Given the description of an element on the screen output the (x, y) to click on. 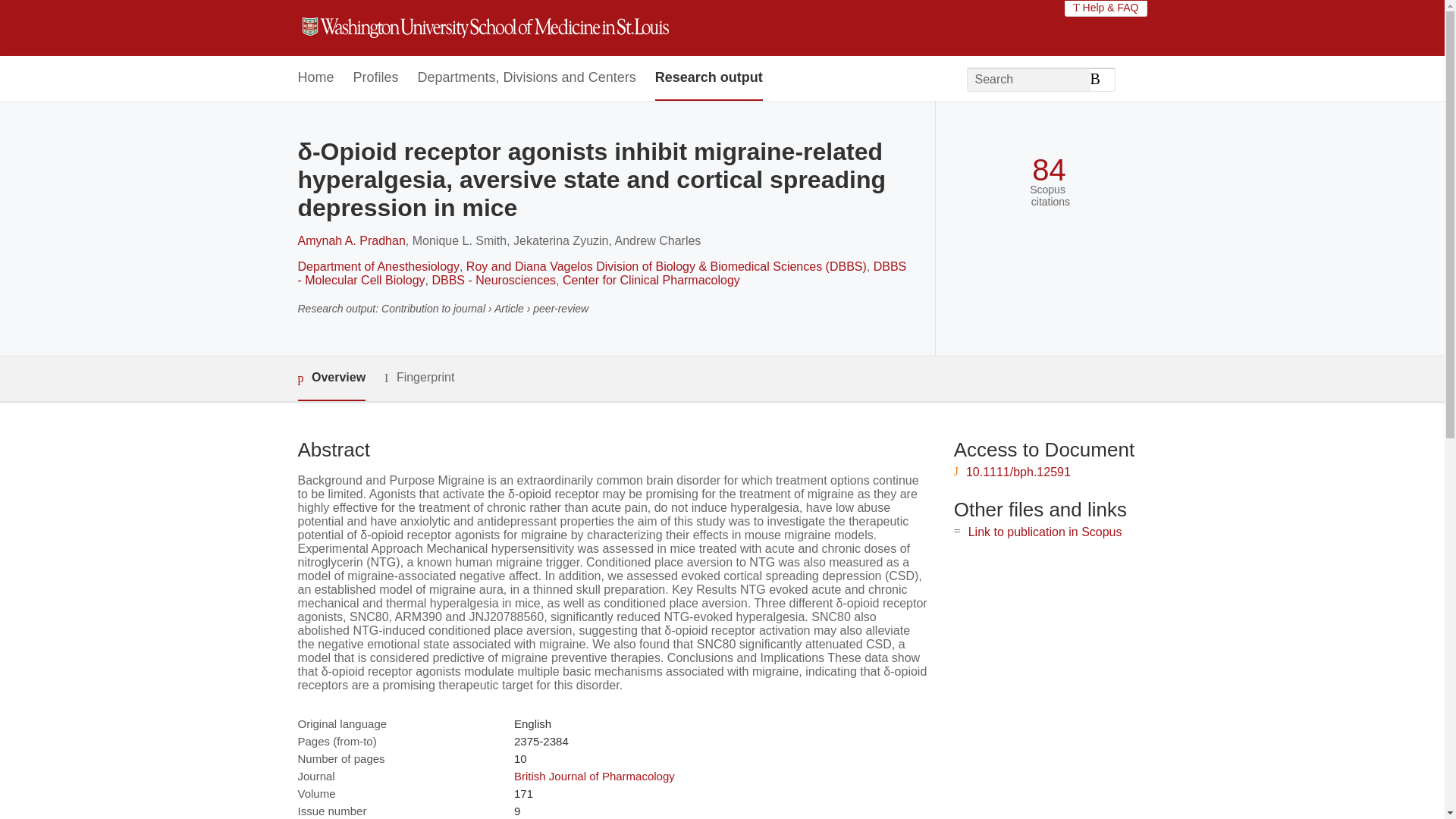
Departments, Divisions and Centers (526, 78)
Amynah A. Pradhan (350, 240)
84 (1048, 170)
Link to publication in Scopus (1045, 531)
DBBS - Neurosciences (493, 279)
Profiles (375, 78)
Overview (331, 378)
British Journal of Pharmacology (594, 775)
Department of Anesthesiology (377, 266)
